Given the description of an element on the screen output the (x, y) to click on. 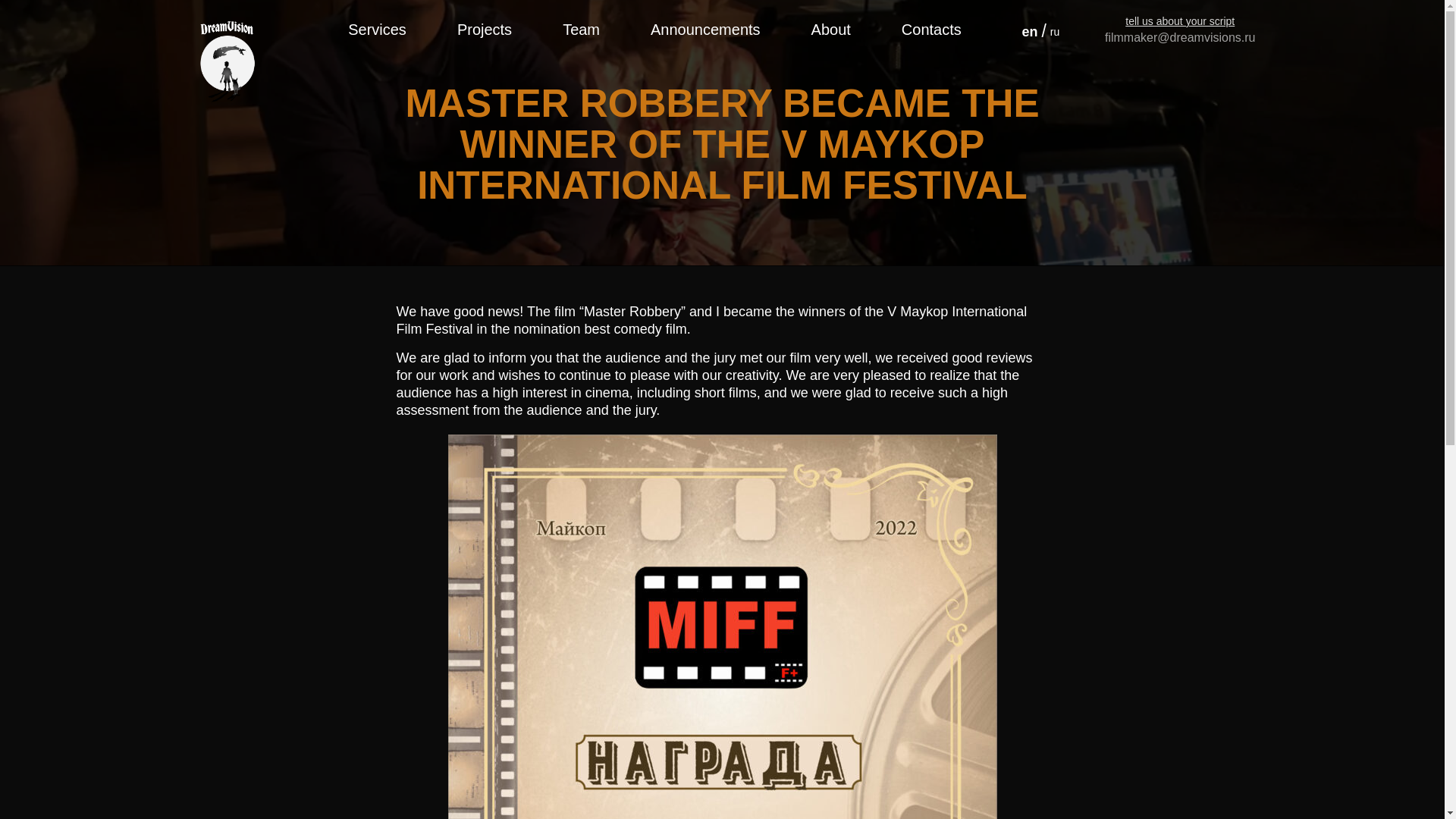
Services (376, 29)
About (830, 29)
tell us about your script (1179, 21)
Contacts (930, 29)
Announcements (705, 29)
Projects (484, 29)
en (1029, 31)
Team (580, 29)
